Given the description of an element on the screen output the (x, y) to click on. 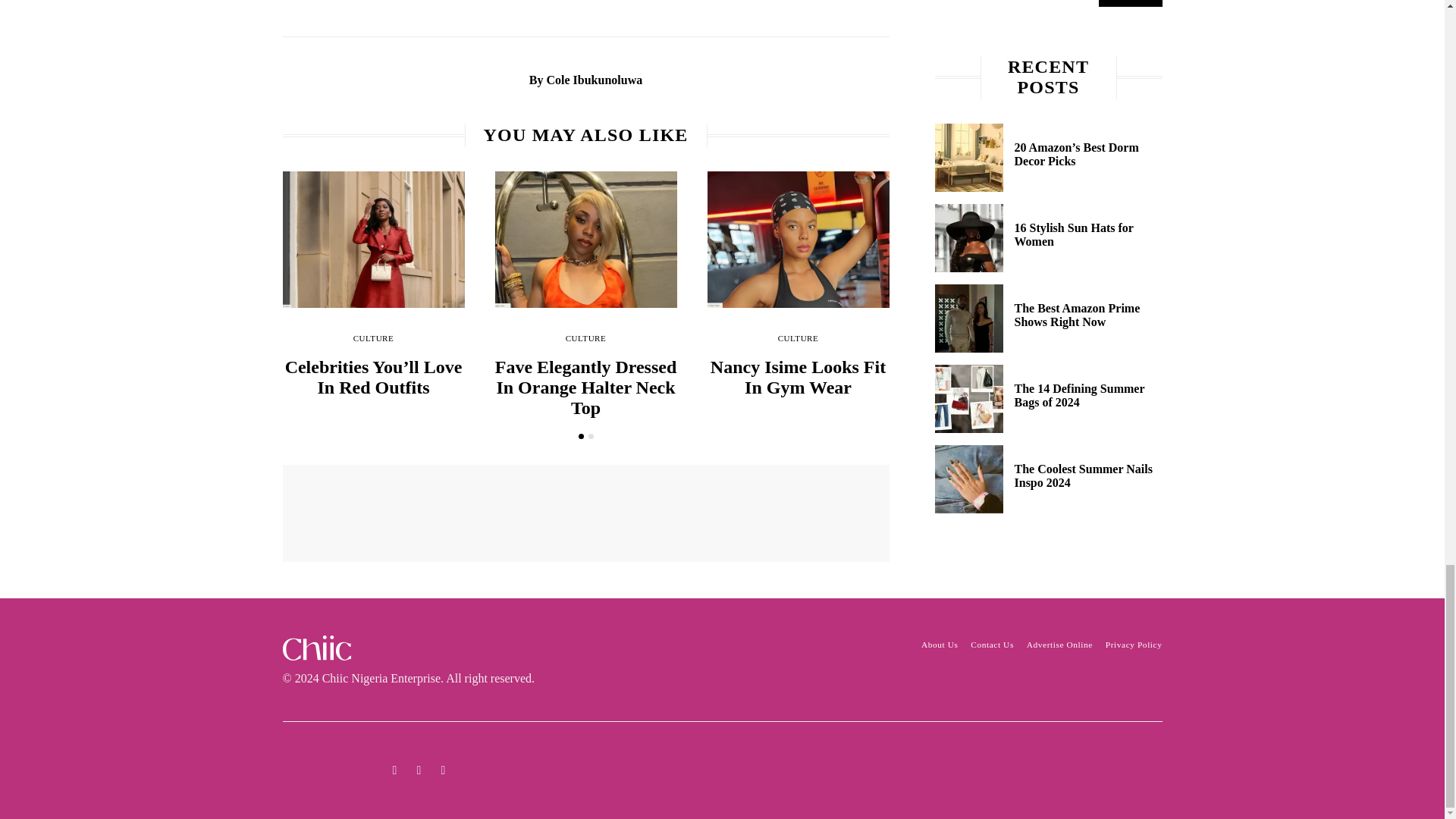
CULTURE (373, 338)
CULTURE (586, 338)
By Cole Ibukunoluwa (585, 79)
